Given the description of an element on the screen output the (x, y) to click on. 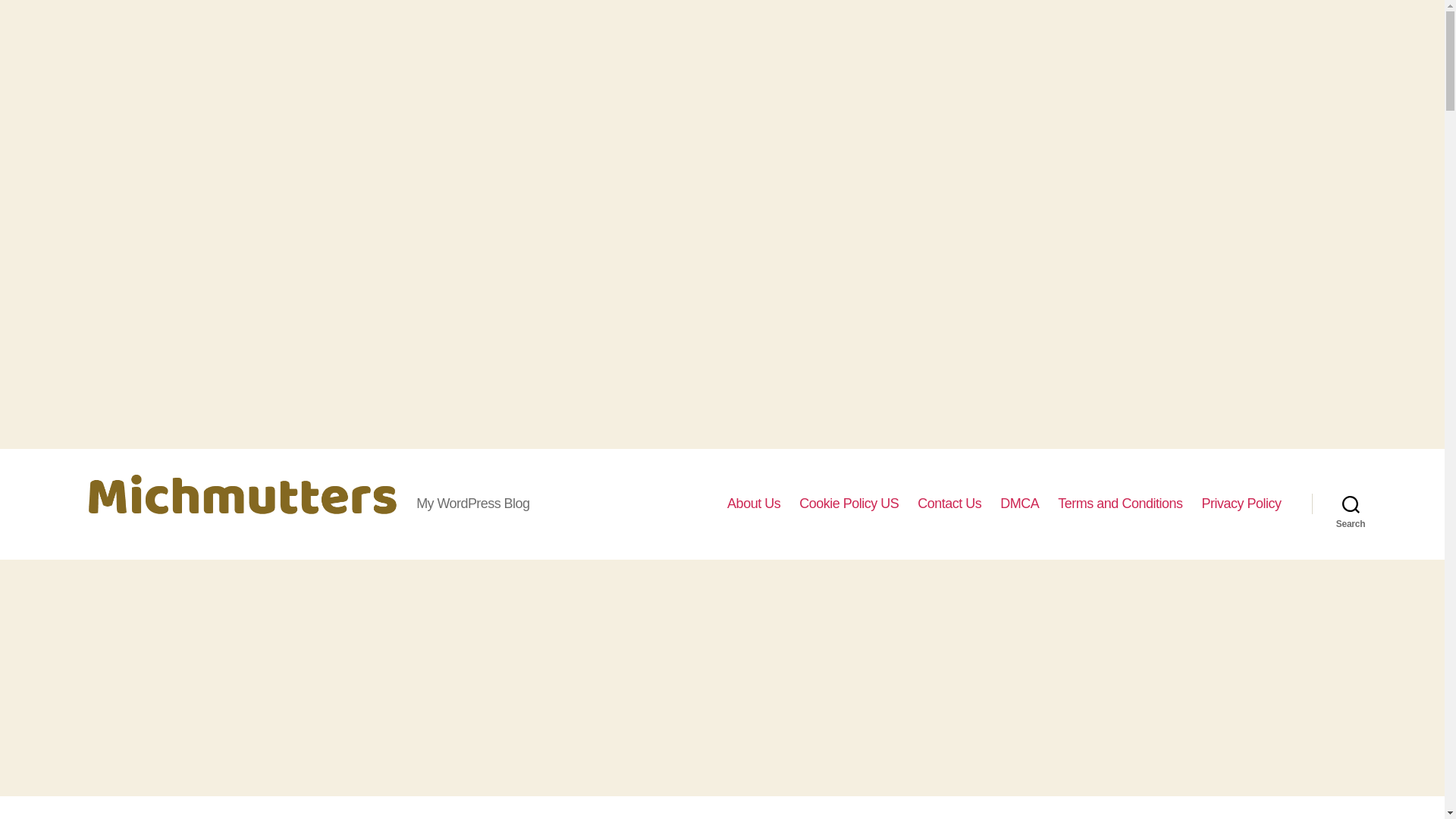
About Us (753, 504)
Cookie Policy US (848, 504)
Privacy Policy (1241, 504)
Contact Us (949, 504)
Search (1350, 503)
DMCA (1019, 504)
Terms and Conditions (1120, 504)
